Given the description of an element on the screen output the (x, y) to click on. 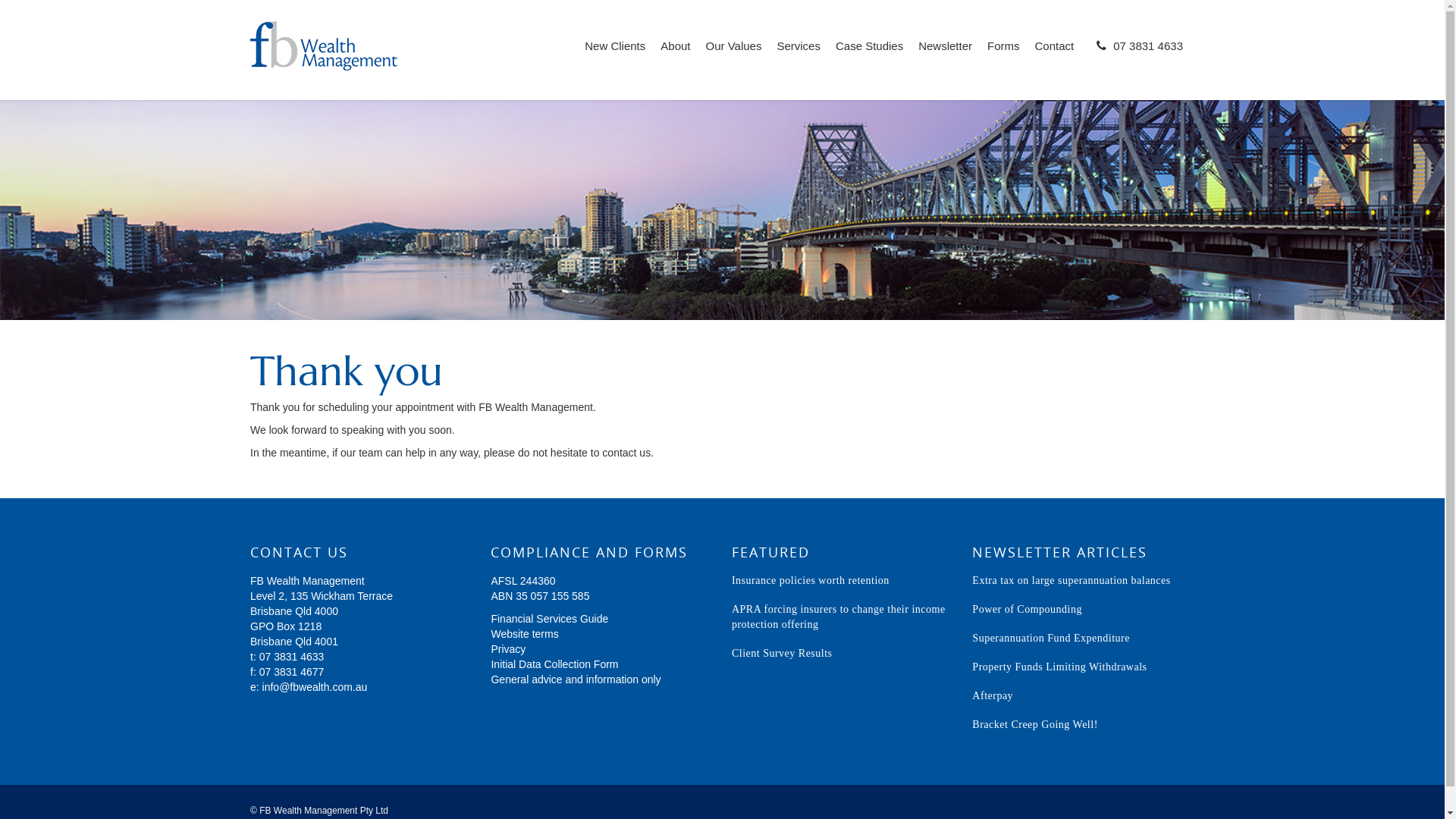
Bracket Creep Going Well! Element type: text (1034, 724)
Our Values Element type: text (733, 56)
Website terms Element type: text (524, 633)
07 3831 4633 Element type: text (1135, 57)
07 3831 4633 Element type: text (291, 656)
Case Studies Element type: text (869, 56)
Extra tax on large superannuation balances Element type: text (1071, 580)
Insurance policies worth retention Element type: text (810, 580)
Client Survey Results Element type: text (781, 652)
Privacy Element type: text (507, 649)
Afterpay Element type: text (992, 695)
General advice and information only Element type: text (575, 679)
Power of Compounding Element type: text (1027, 609)
Services Element type: text (798, 56)
Property Funds Limiting Withdrawals Element type: text (1059, 666)
Initial Data Collection Form Element type: text (554, 664)
Contact Element type: text (1054, 56)
info@fbwealth.com.au Element type: text (314, 686)
Superannuation Fund Expenditure Element type: text (1050, 637)
About Element type: text (675, 56)
New Clients Element type: text (614, 56)
Financial Services Guide Element type: text (549, 618)
Newsletter Element type: text (945, 56)
Forms Element type: text (1003, 56)
